Given the description of an element on the screen output the (x, y) to click on. 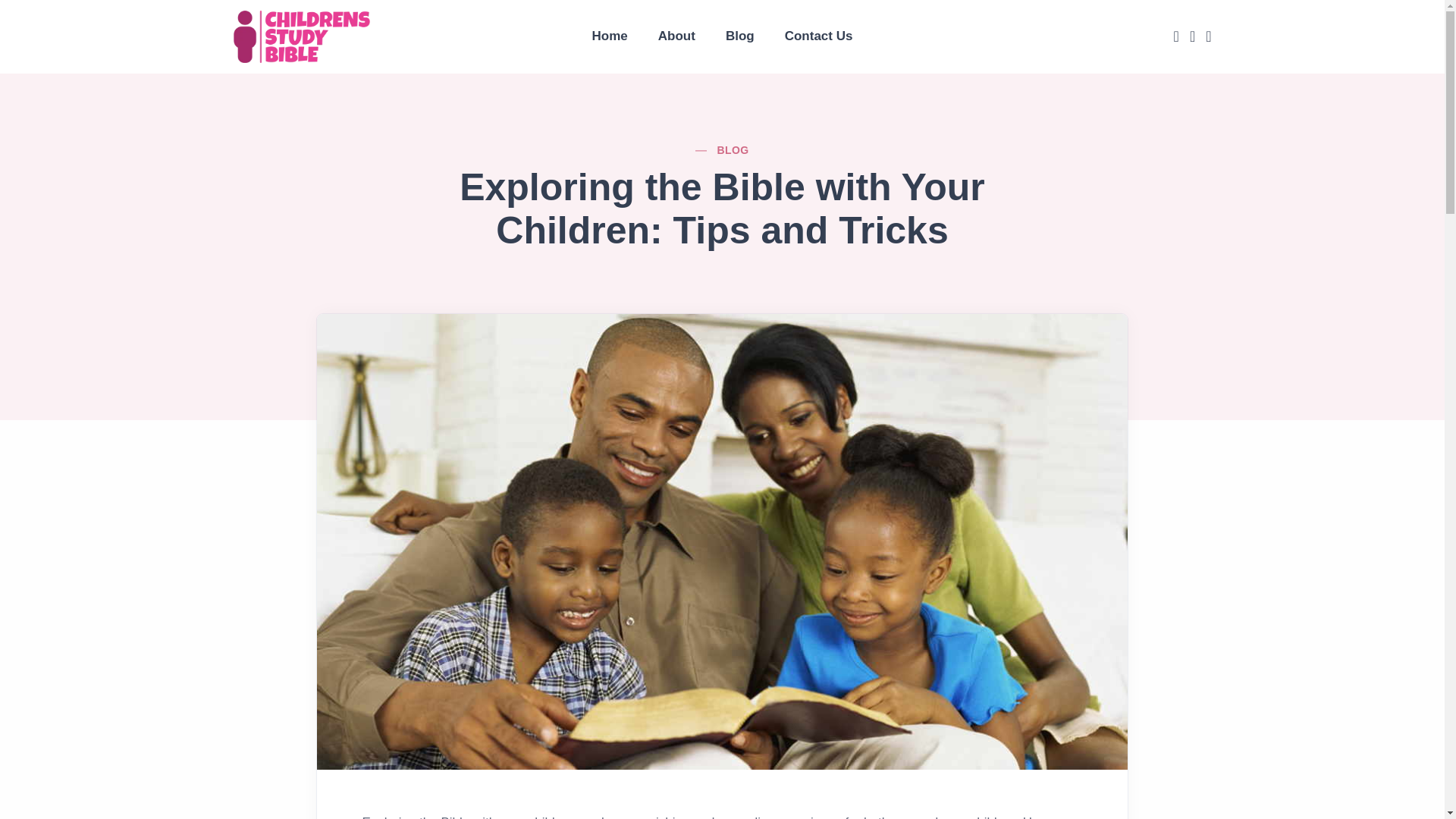
Contact Us (818, 36)
BLOG (732, 150)
Home (609, 36)
About (676, 36)
